Given the description of an element on the screen output the (x, y) to click on. 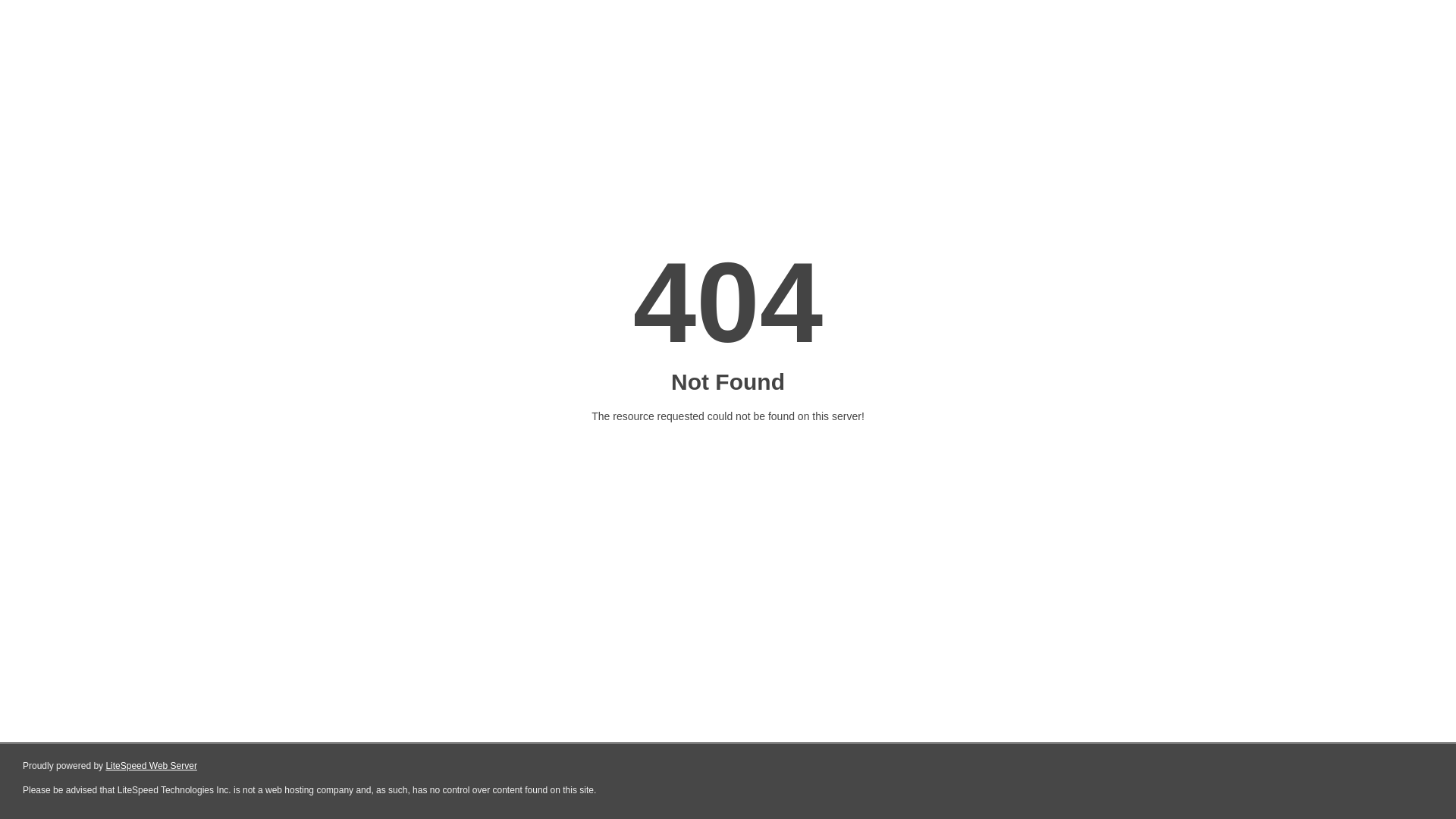
LiteSpeed Web Server (150, 765)
